Given the description of an element on the screen output the (x, y) to click on. 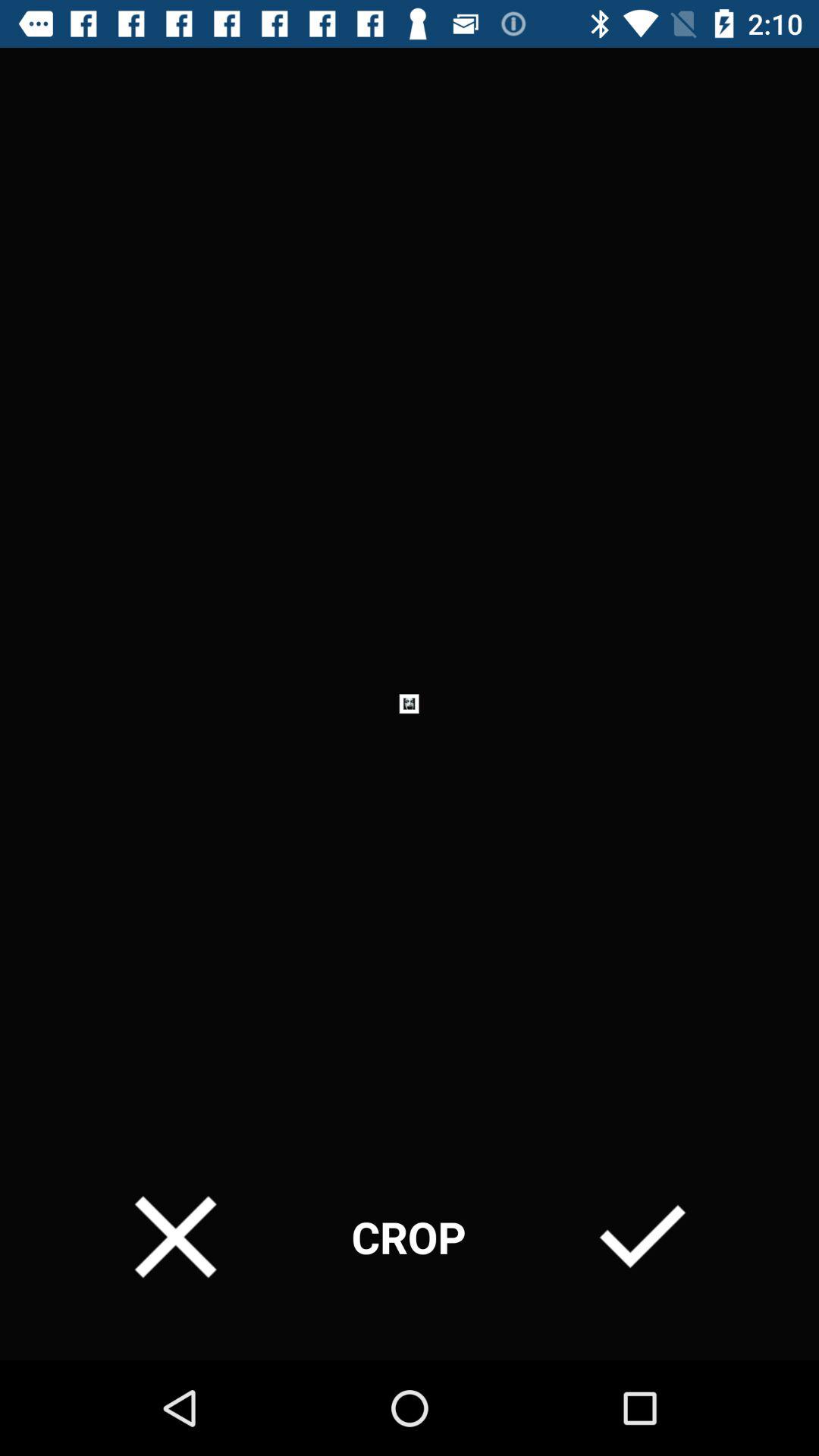
launch the item to the left of the crop item (175, 1236)
